Given the description of an element on the screen output the (x, y) to click on. 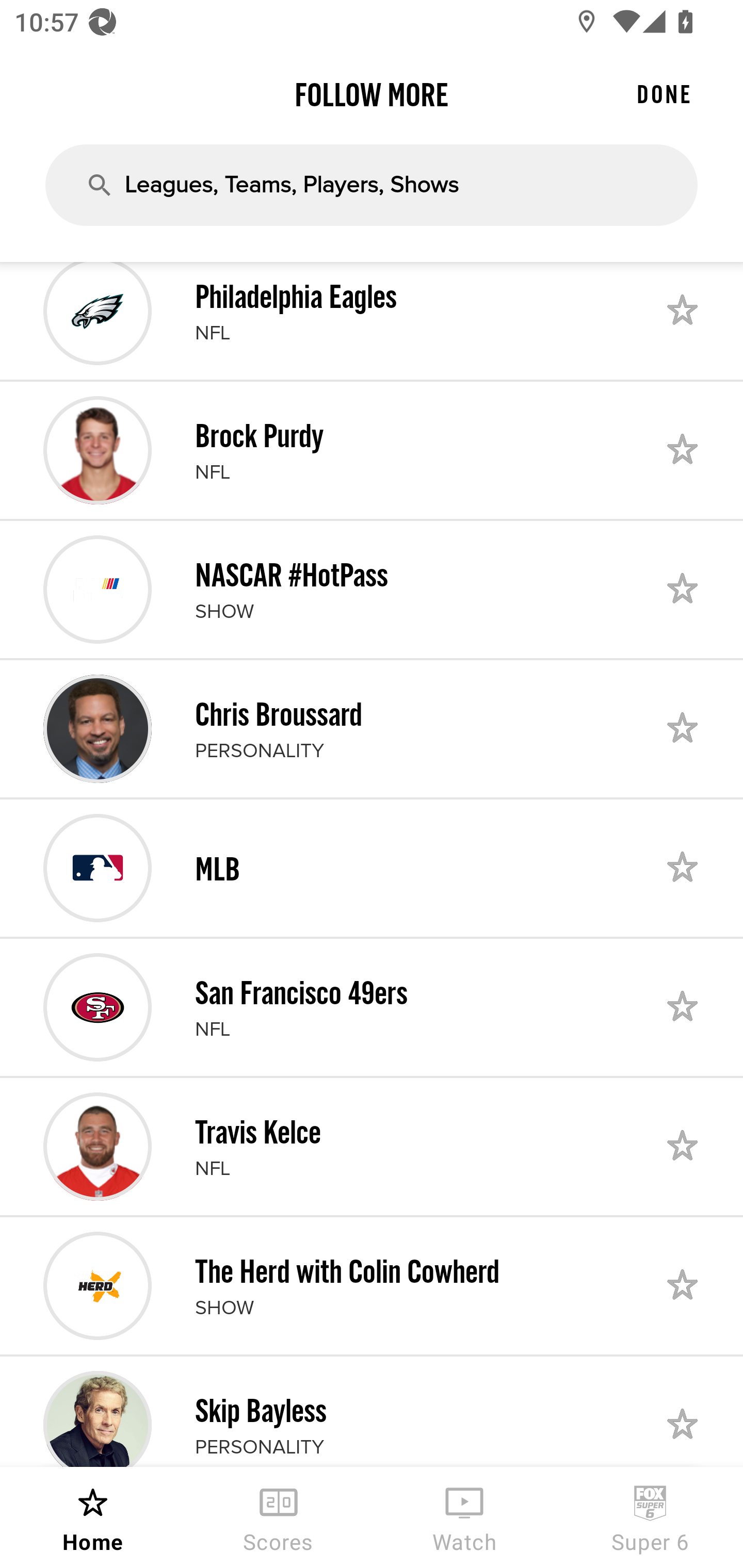
DONE (663, 93)
Leagues, Teams, Players, Shows (371, 184)
Philadelphia Eagles NFL (371, 320)
Brock Purdy NFL (371, 450)
NASCAR #HotPass SHOW (371, 589)
Chris Broussard PERSONALITY (371, 729)
MLB (371, 867)
San Francisco 49ers NFL (371, 1007)
Travis Kelce NFL (371, 1146)
The Herd with Colin Cowherd SHOW (371, 1285)
Skip Bayless PERSONALITY (371, 1411)
Scores (278, 1517)
Watch (464, 1517)
Super 6 (650, 1517)
